Given the description of an element on the screen output the (x, y) to click on. 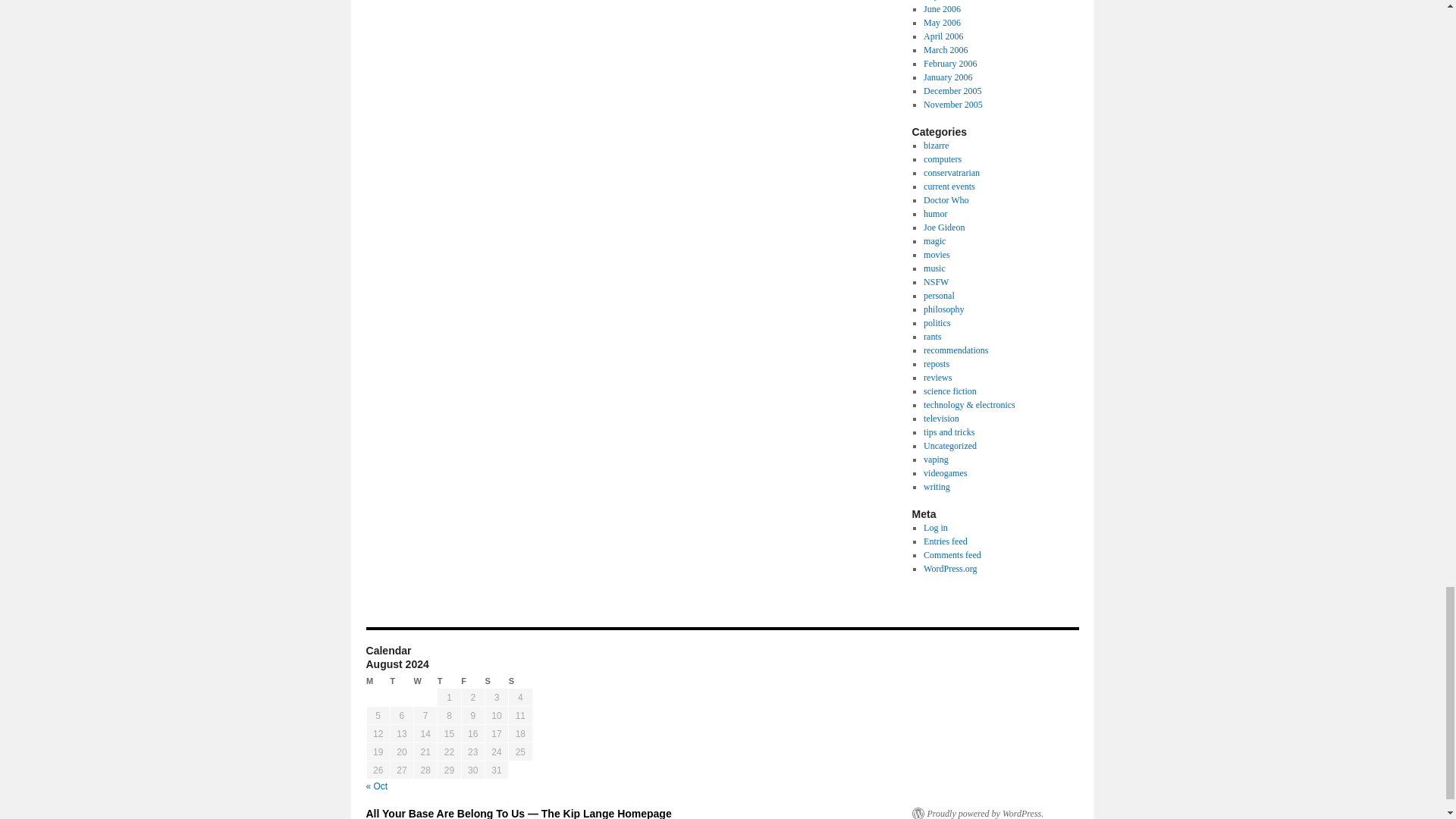
Monday (378, 681)
Friday (472, 681)
Sunday (520, 681)
Tuesday (401, 681)
Saturday (496, 681)
Thursday (449, 681)
Wednesday (425, 681)
